Given the description of an element on the screen output the (x, y) to click on. 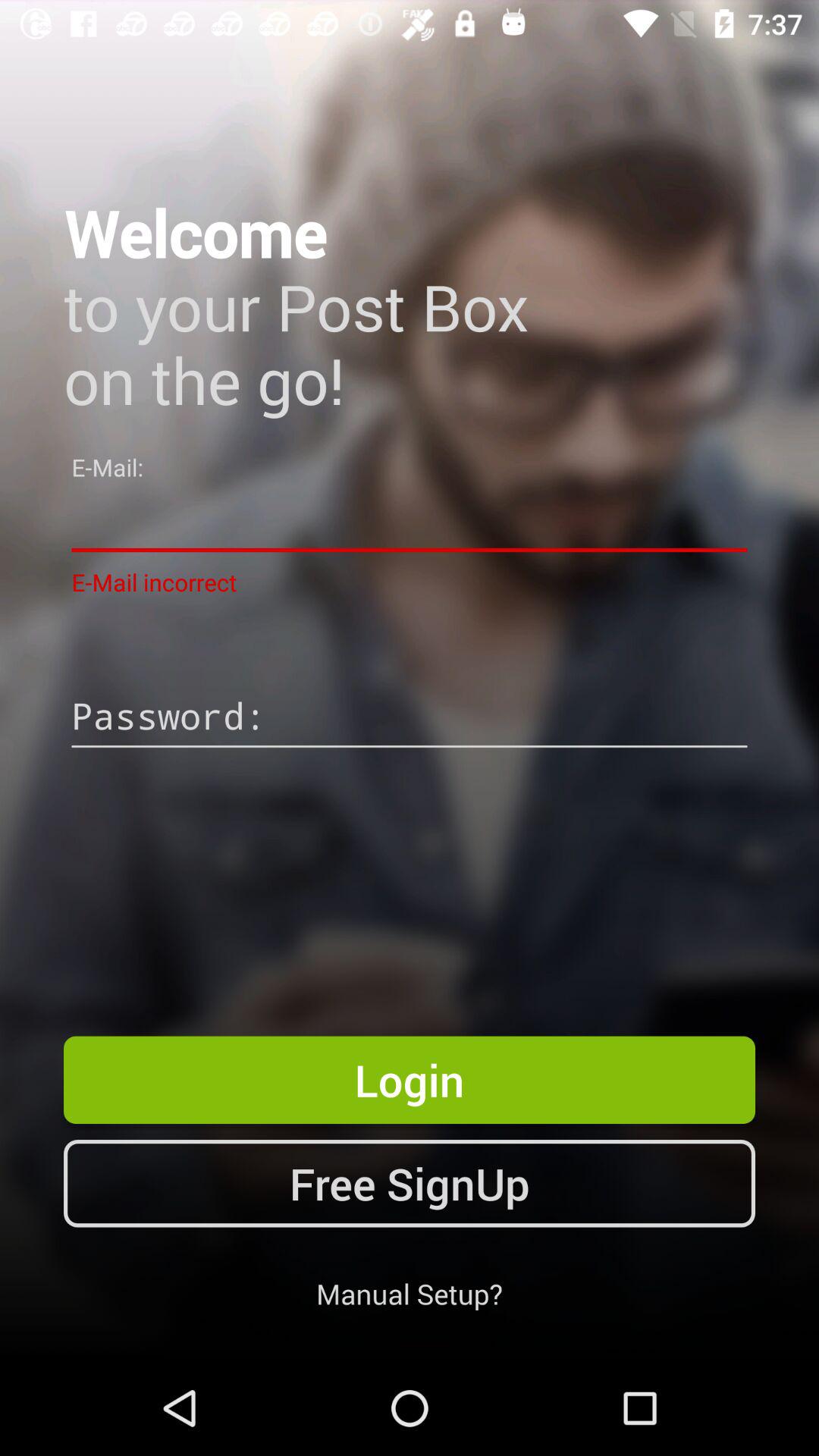
jump to manual setup? (409, 1293)
